Given the description of an element on the screen output the (x, y) to click on. 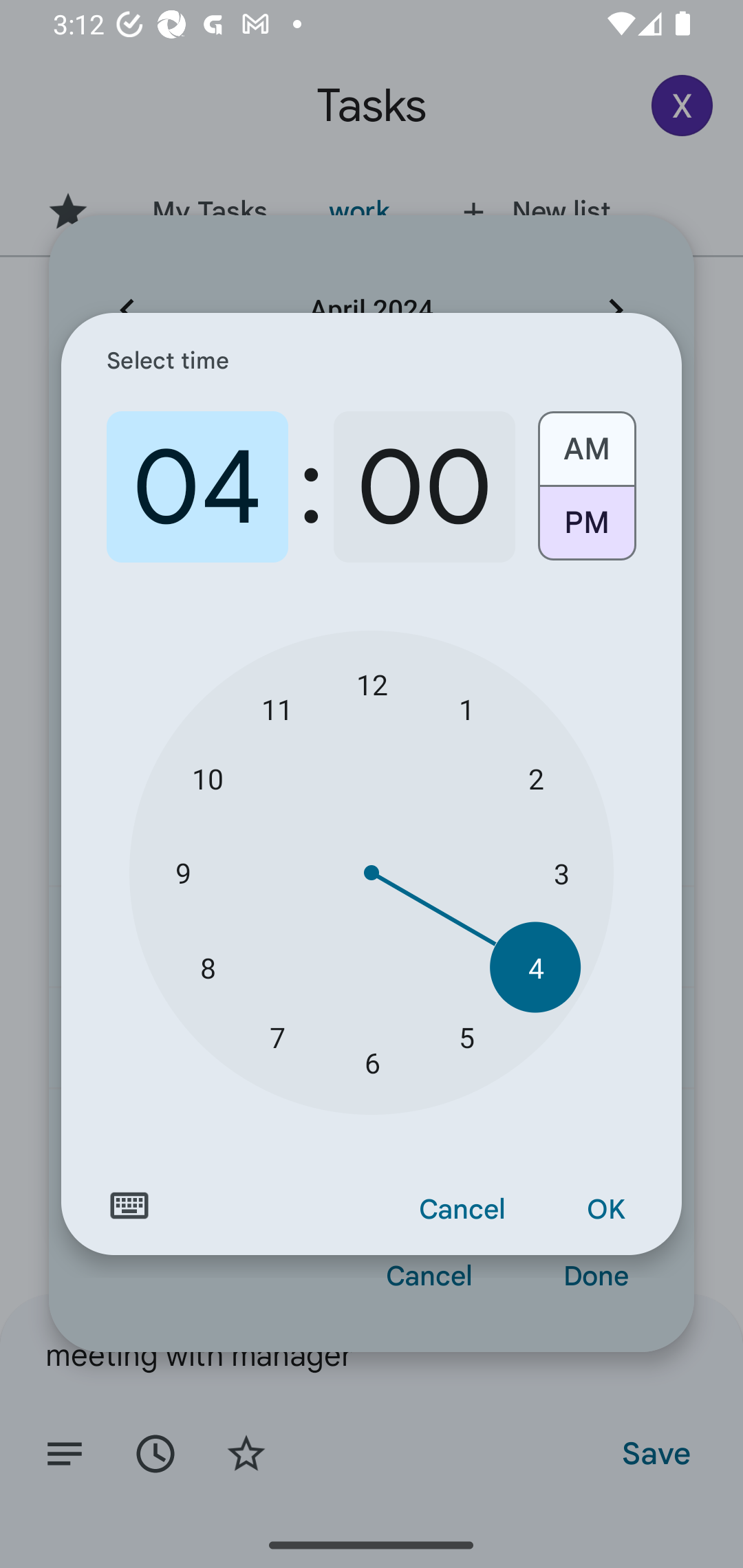
AM (586, 441)
04 4 o'clock (197, 486)
00 0 minutes (424, 486)
PM (586, 529)
12 12 o'clock (371, 683)
11 11 o'clock (276, 708)
1 1 o'clock (466, 708)
10 10 o'clock (207, 778)
2 2 o'clock (535, 778)
9 9 o'clock (182, 872)
3 3 o'clock (561, 872)
8 8 o'clock (207, 966)
4 4 o'clock (535, 966)
7 7 o'clock (276, 1035)
5 5 o'clock (466, 1035)
6 6 o'clock (371, 1062)
Switch to text input mode for the time input. (128, 1205)
Cancel (462, 1209)
OK (605, 1209)
